Given the description of an element on the screen output the (x, y) to click on. 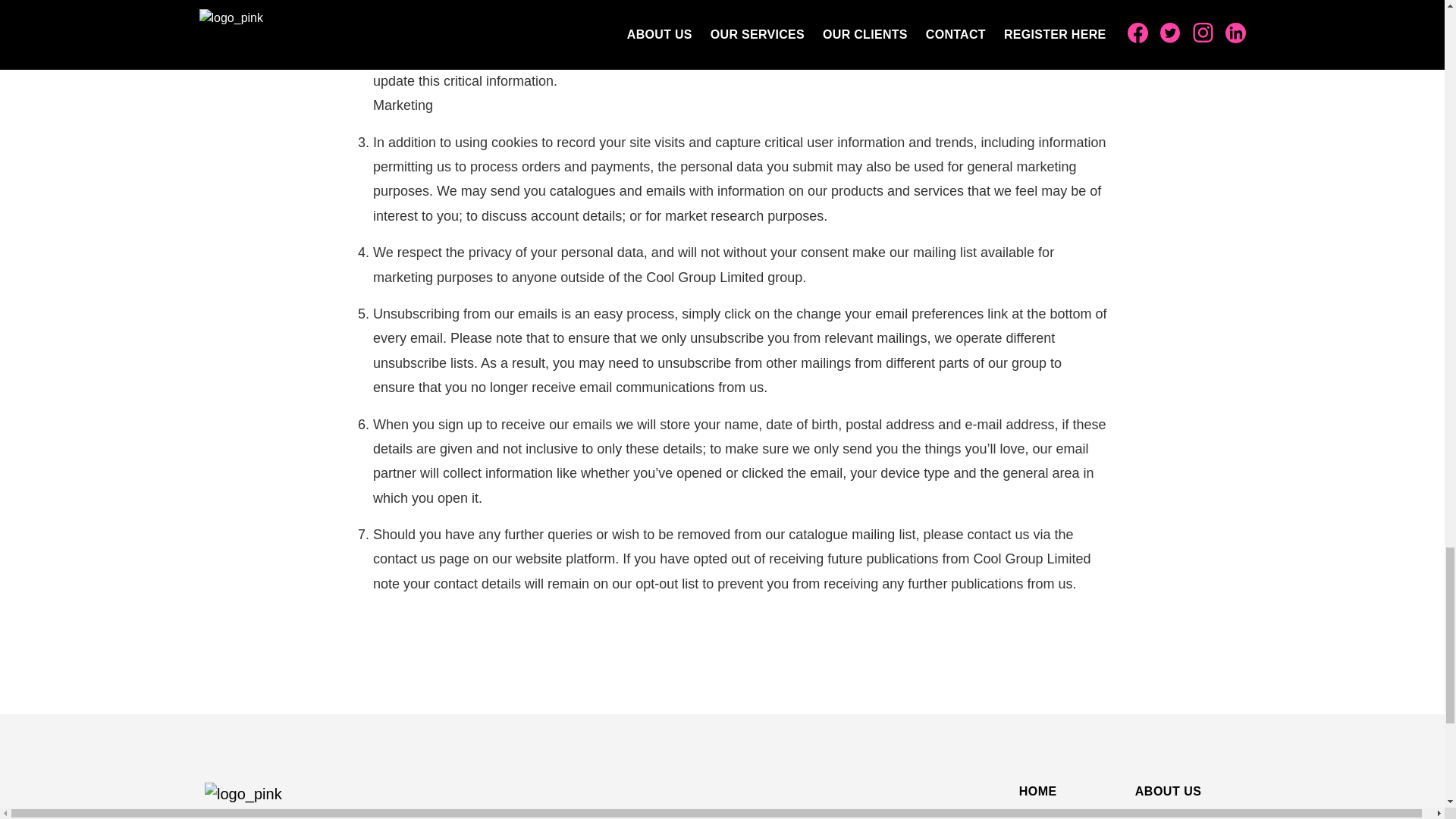
HOME (1037, 791)
ABOUT US (1168, 791)
